Given the description of an element on the screen output the (x, y) to click on. 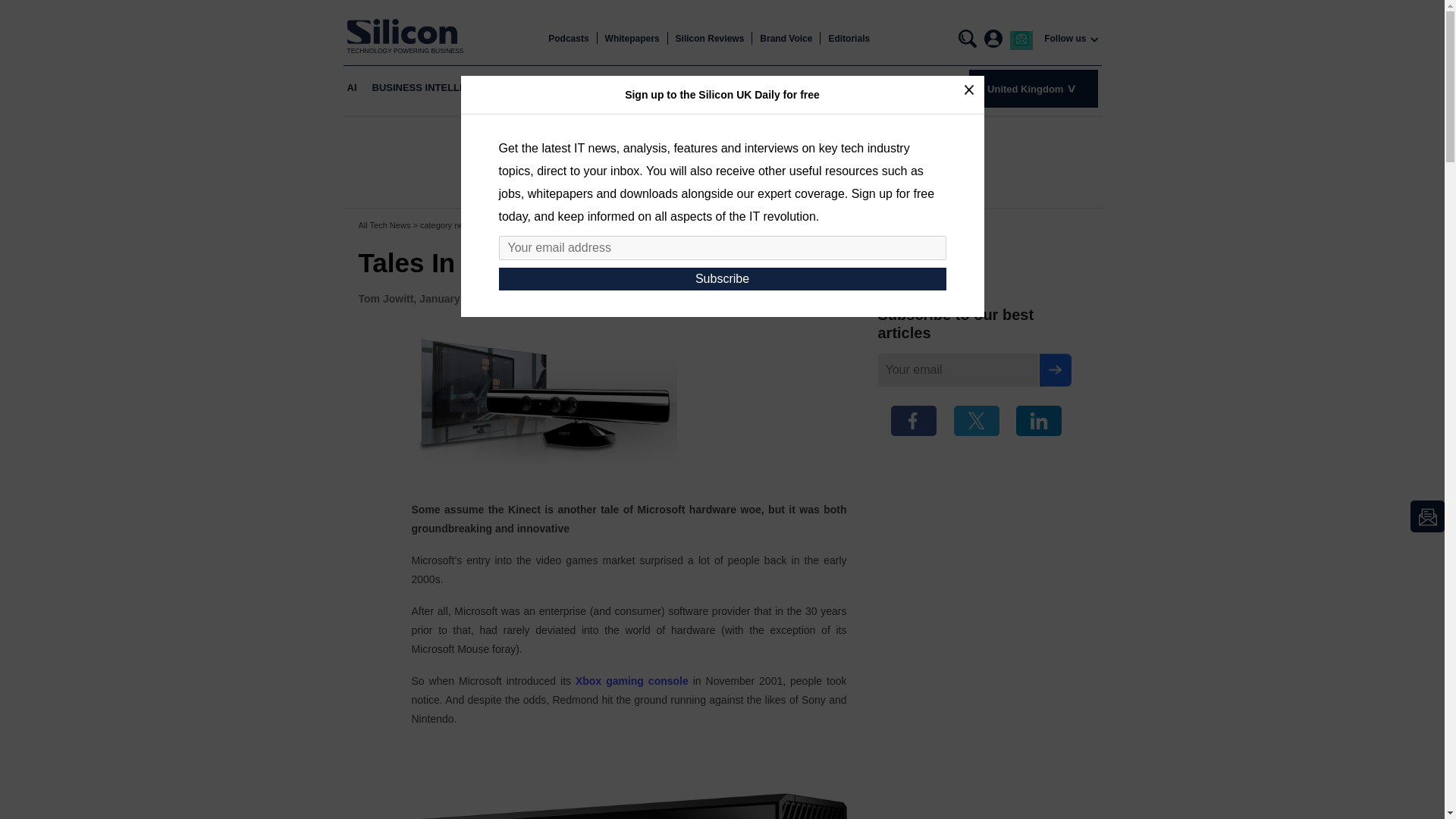
Silicon UK (405, 31)
MARKETING (782, 87)
Brand Voice (786, 38)
DIGITAL TRANSFORMATION (629, 87)
SECURITY (853, 87)
Podcasts (568, 38)
CLOUD (529, 87)
Silicon Reviews (709, 38)
Microsoft Kinect (627, 780)
Whitepapers (632, 38)
Follow us (1064, 38)
DATA (724, 87)
United Kingdom (1033, 88)
BUSINESS INTELLIGENCE (434, 87)
Editorials (848, 38)
